Given the description of an element on the screen output the (x, y) to click on. 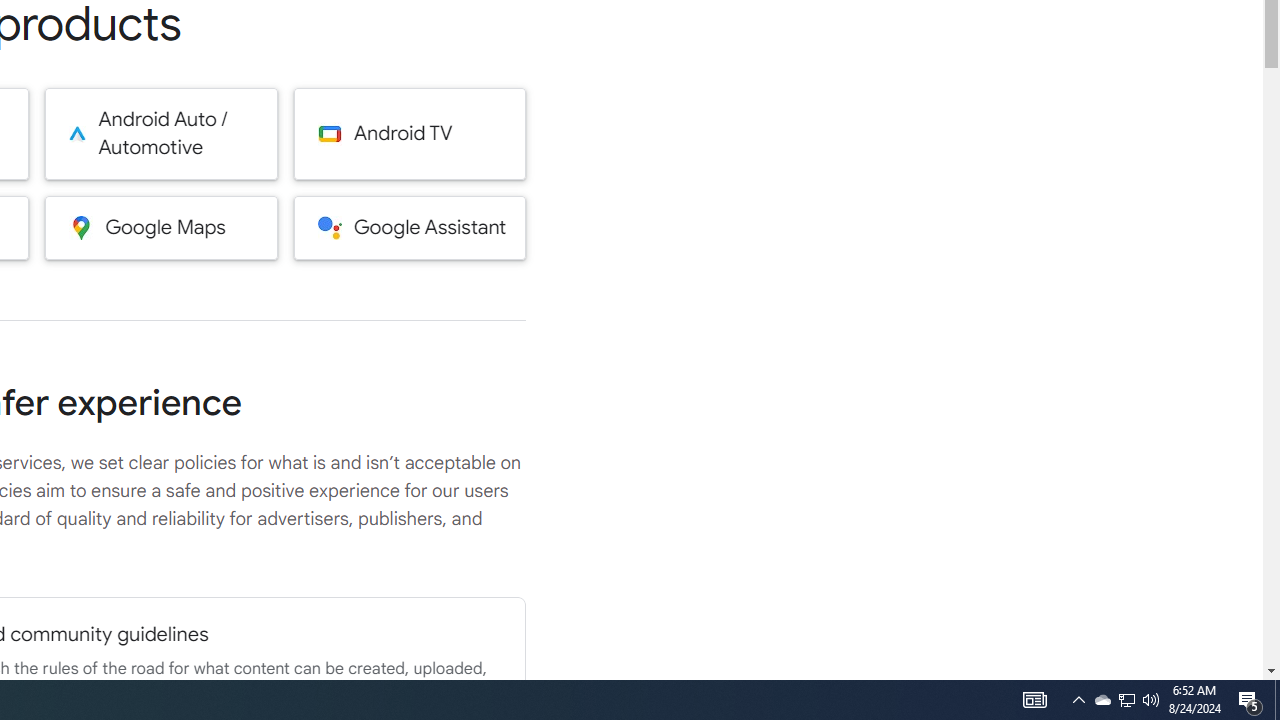
Android Auto / Automotive (160, 133)
Android TV (410, 133)
Google Maps (160, 227)
Google Assistant (410, 227)
